Given the description of an element on the screen output the (x, y) to click on. 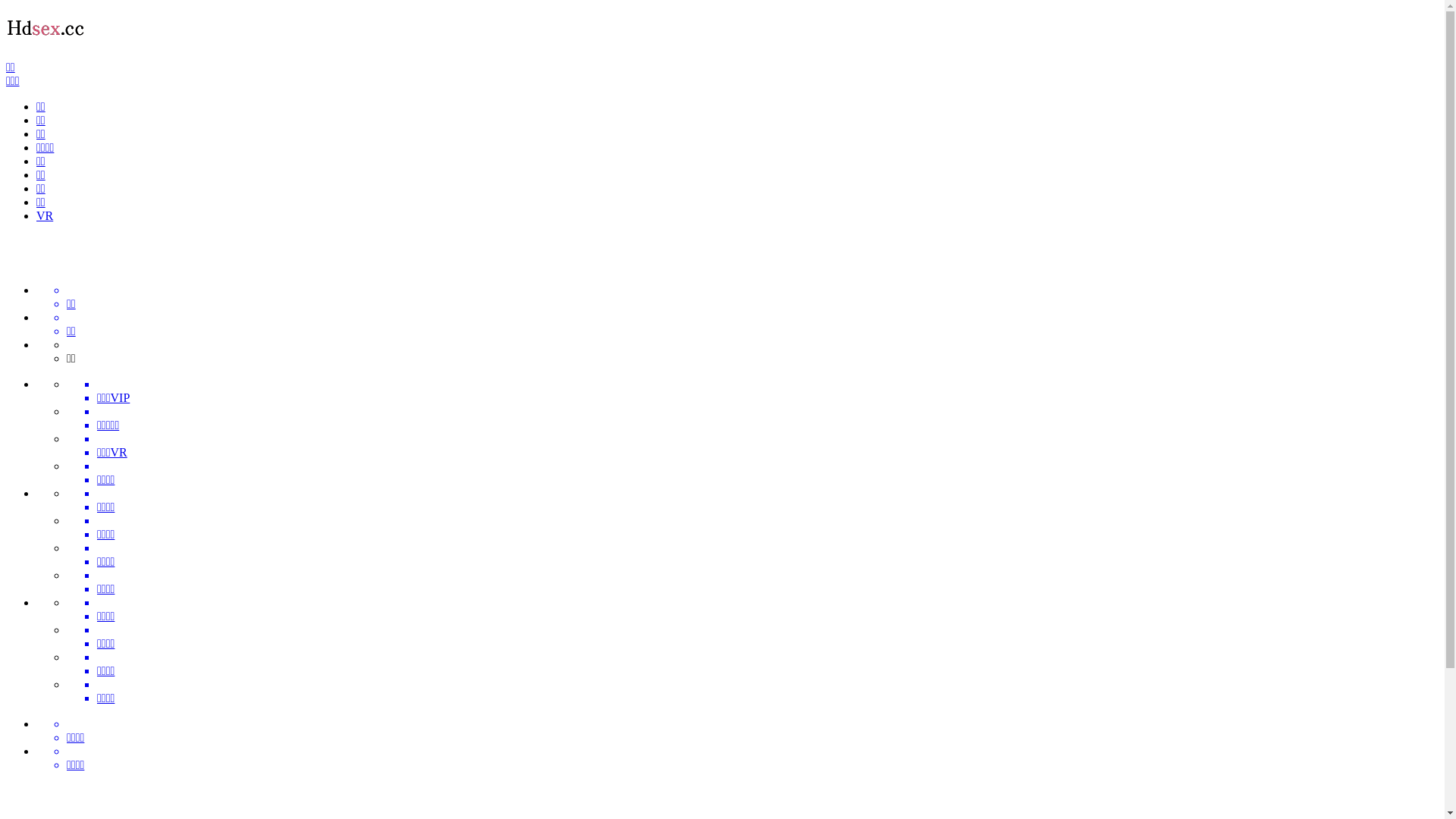
VR Element type: text (44, 215)
